Given the description of an element on the screen output the (x, y) to click on. 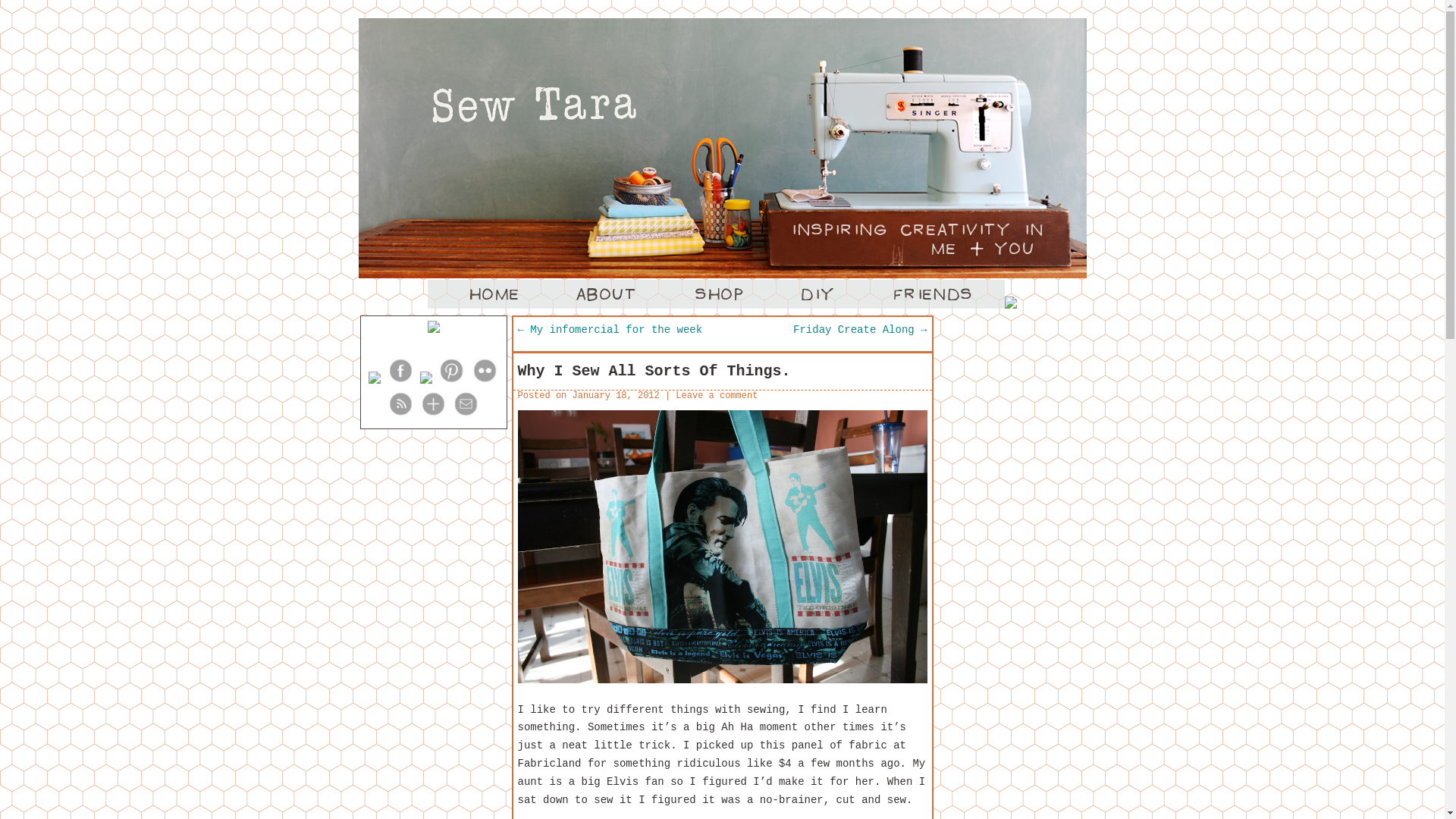
January 18, 2012 (615, 395)
Subscribe to my feed (400, 413)
6:59 am (615, 395)
Leave a comment (716, 395)
